Given the description of an element on the screen output the (x, y) to click on. 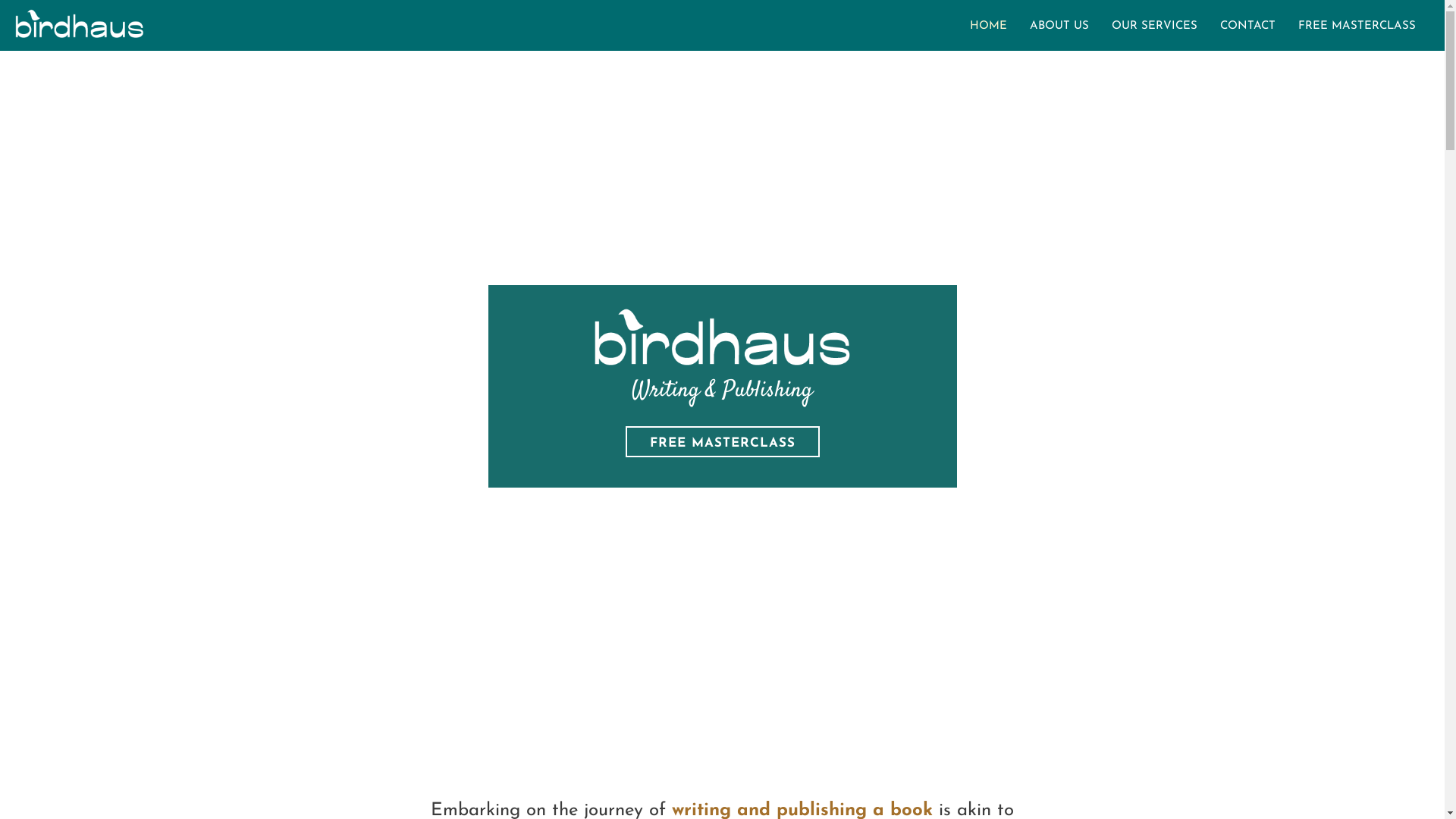
Birdhaus-BW-Logo Element type: hover (79, 23)
HOME Element type: text (988, 25)
Birdhaus-BW-Logo Element type: hover (721, 336)
FREE MASTERCLASS Element type: text (1356, 25)
OUR SERVICES Element type: text (1154, 25)
CONTACT Element type: text (1247, 25)
ABOUT US Element type: text (1059, 25)
FREE MASTERCLASS Element type: text (721, 441)
